Given the description of an element on the screen output the (x, y) to click on. 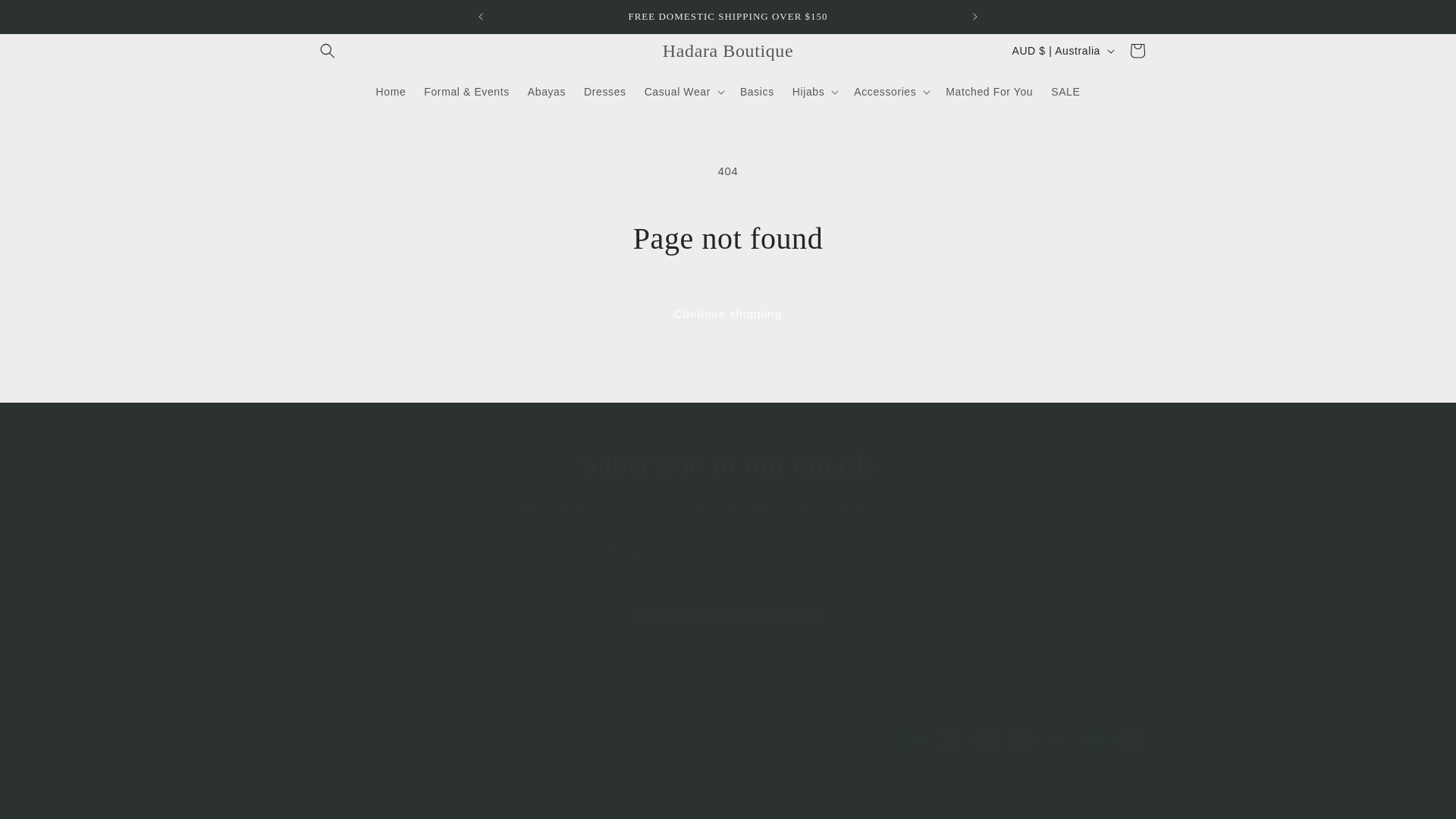
Dresses (604, 91)
Subscribe to our emails (727, 464)
Hadara Boutique (726, 51)
Home (390, 91)
Email (727, 552)
Basics (756, 91)
Skip to content (45, 17)
Abayas (546, 91)
